Given the description of an element on the screen output the (x, y) to click on. 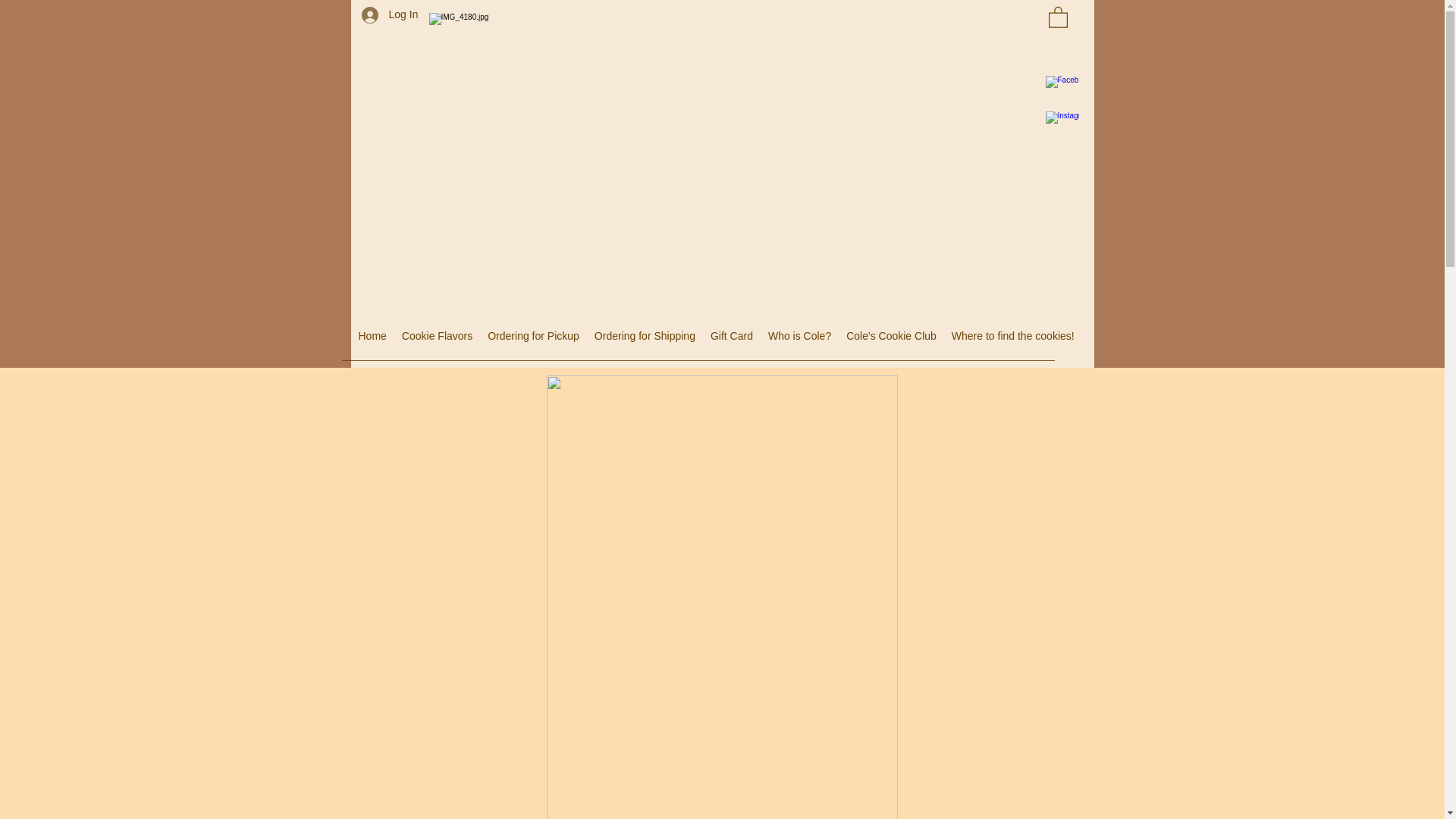
Log In (384, 14)
Where to find the cookies! (1012, 341)
Home (371, 341)
Who is Cole? (799, 341)
Ordering for Pickup (533, 341)
Ordering for Shipping (644, 341)
Cookie Flavors (437, 341)
Cole's Cookie Club (890, 341)
Gift Card (731, 341)
FAQ's (1103, 341)
